Given the description of an element on the screen output the (x, y) to click on. 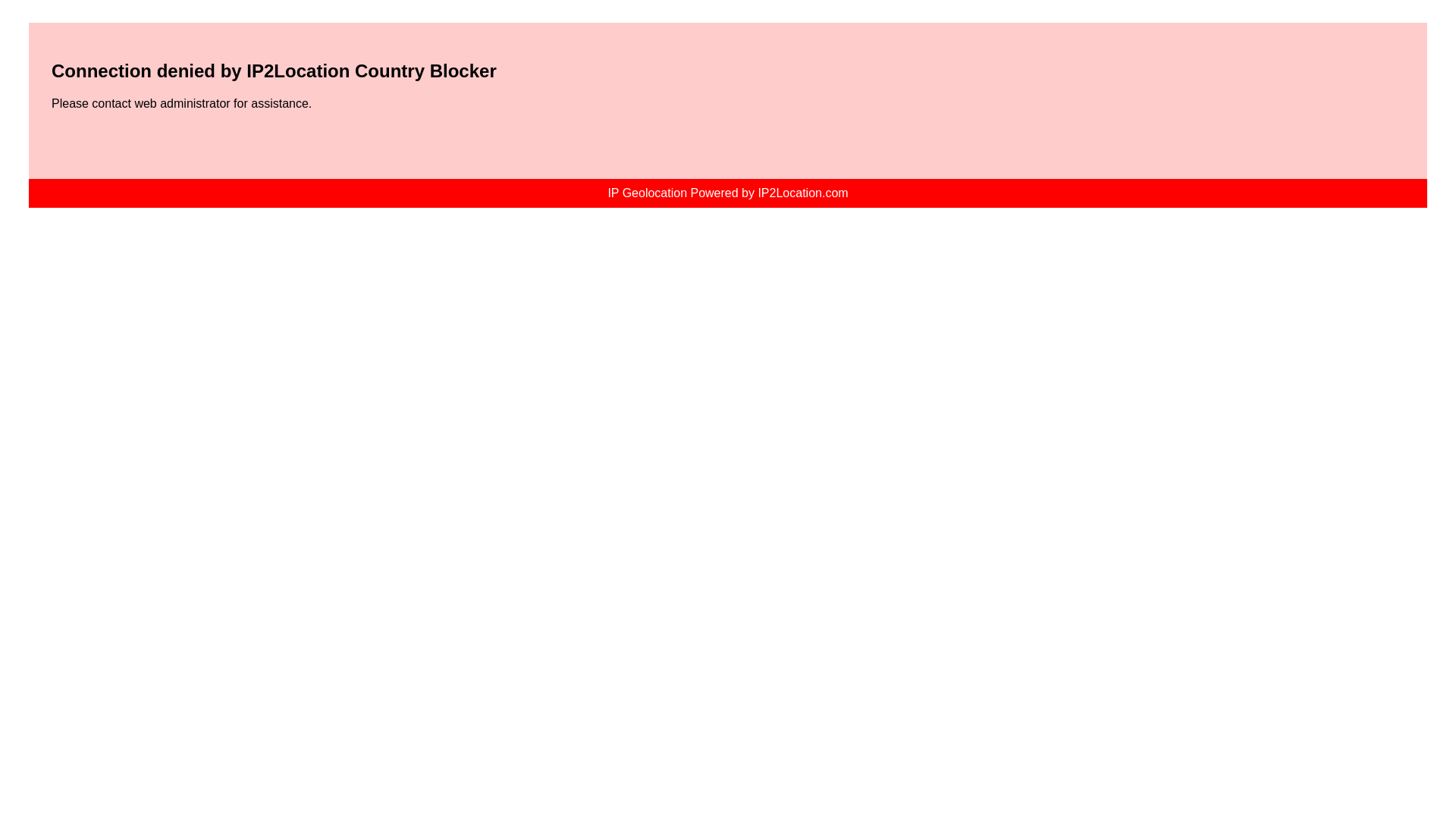
IP Geolocation Powered by IP2Location.com Element type: text (727, 192)
